Given the description of an element on the screen output the (x, y) to click on. 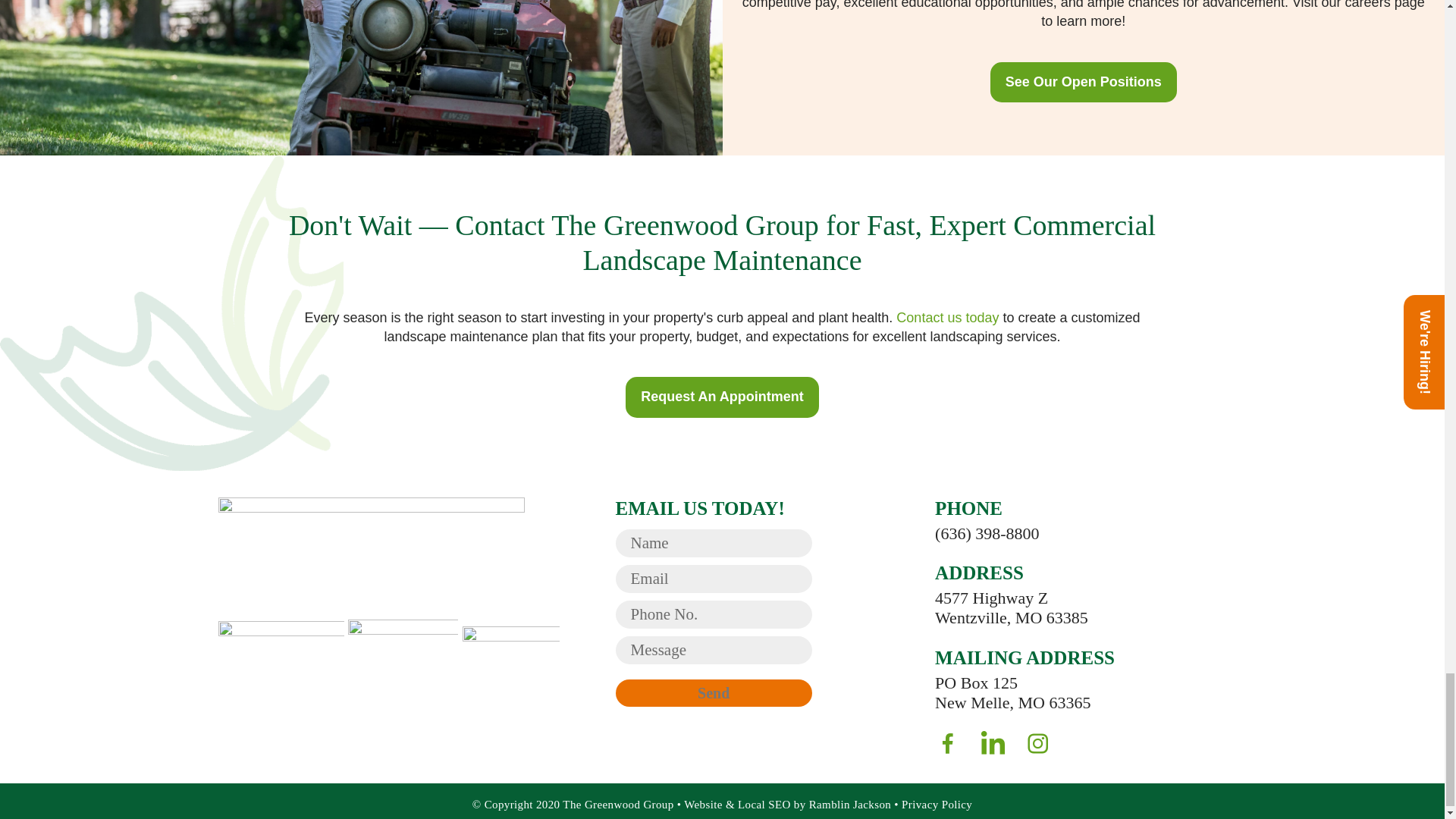
Send (713, 692)
